Given the description of an element on the screen output the (x, y) to click on. 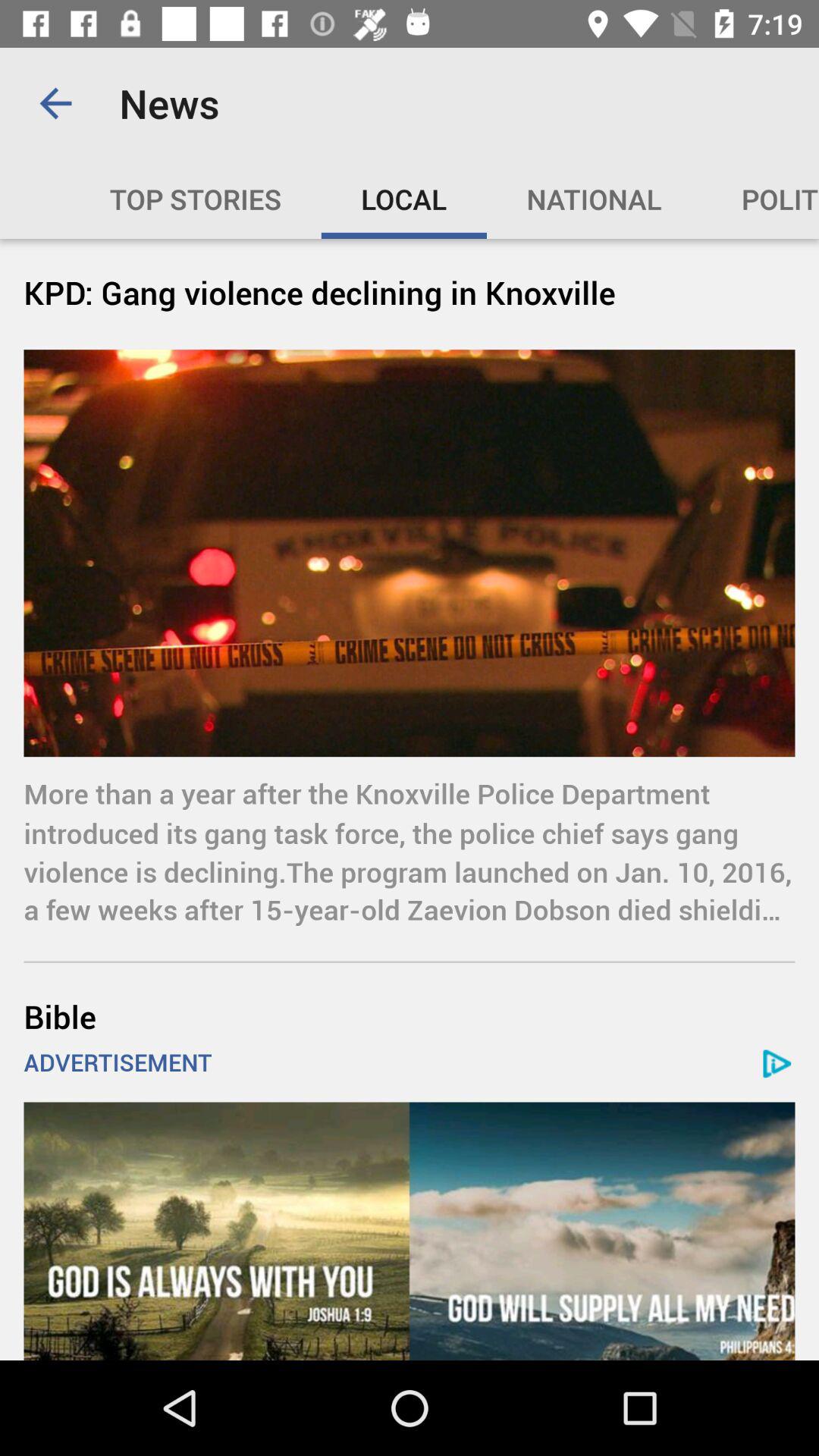
turn on icon to the left of the news app (55, 103)
